Given the description of an element on the screen output the (x, y) to click on. 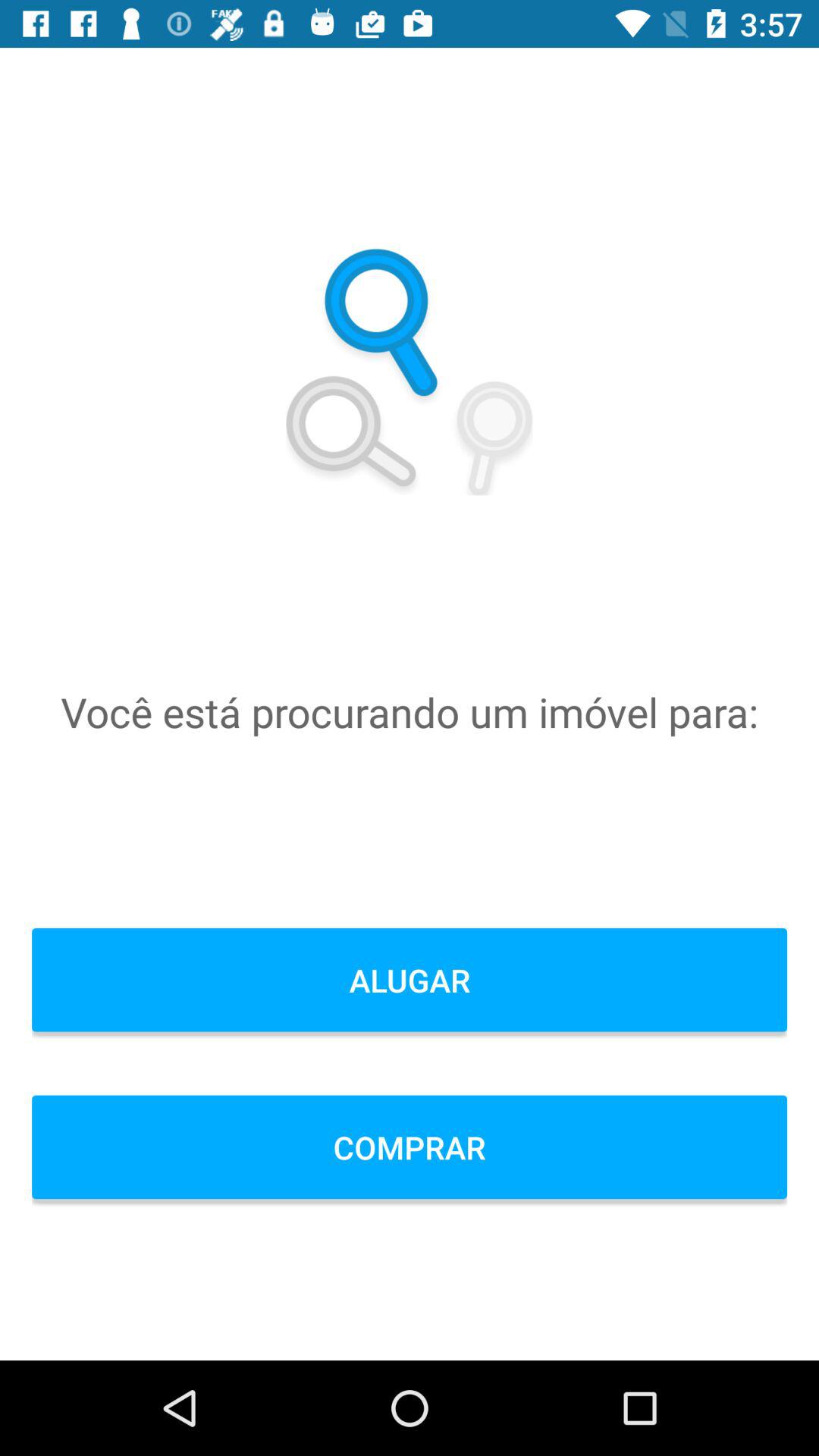
jump to comprar icon (409, 1146)
